Given the description of an element on the screen output the (x, y) to click on. 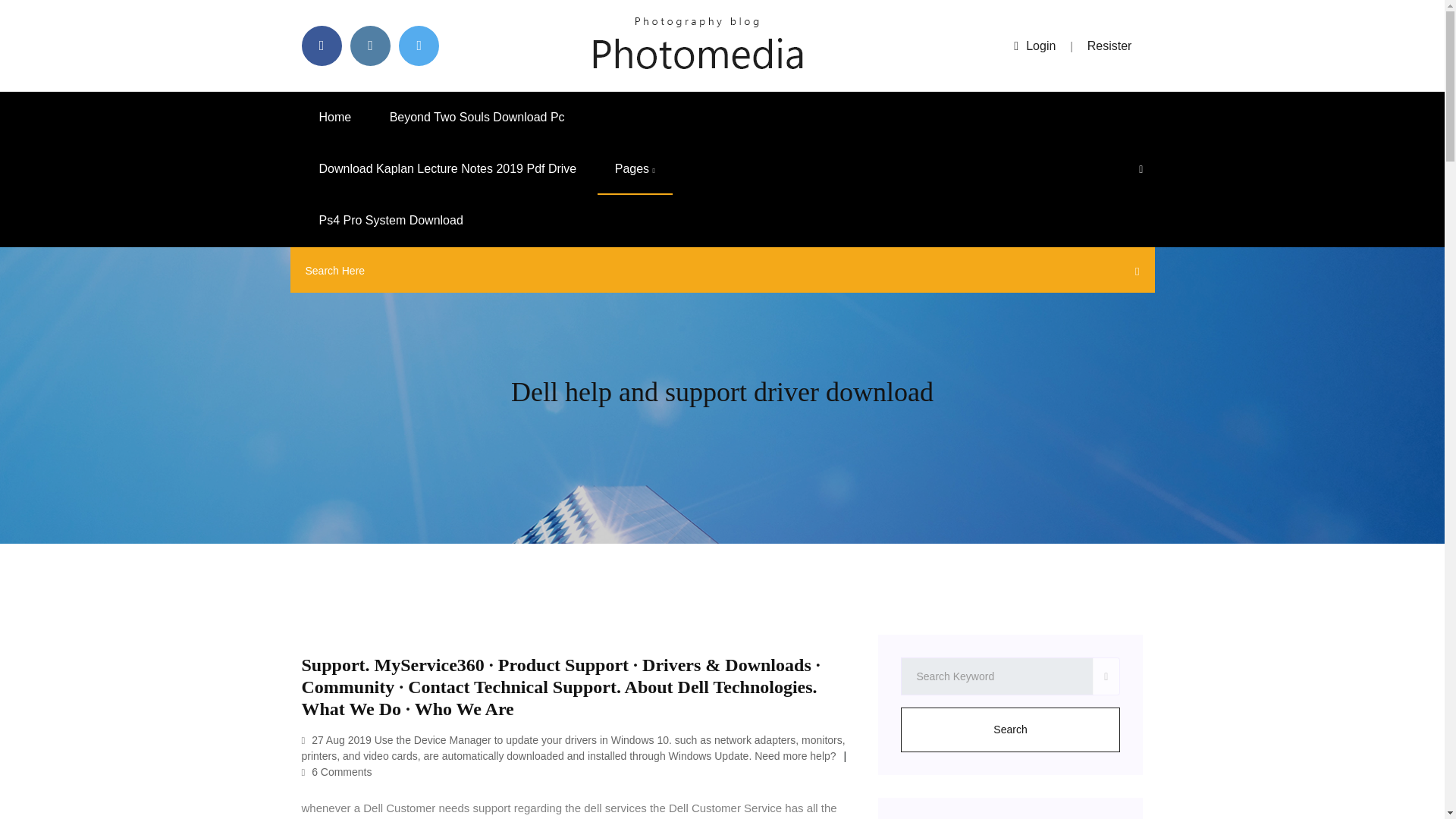
6 Comments (336, 771)
Pages (634, 168)
Login (1034, 45)
Resister (1109, 45)
Ps4 Pro System Download (390, 220)
Download Kaplan Lecture Notes 2019 Pdf Drive (447, 168)
Beyond Two Souls Download Pc (477, 117)
Home (335, 117)
